Given the description of an element on the screen output the (x, y) to click on. 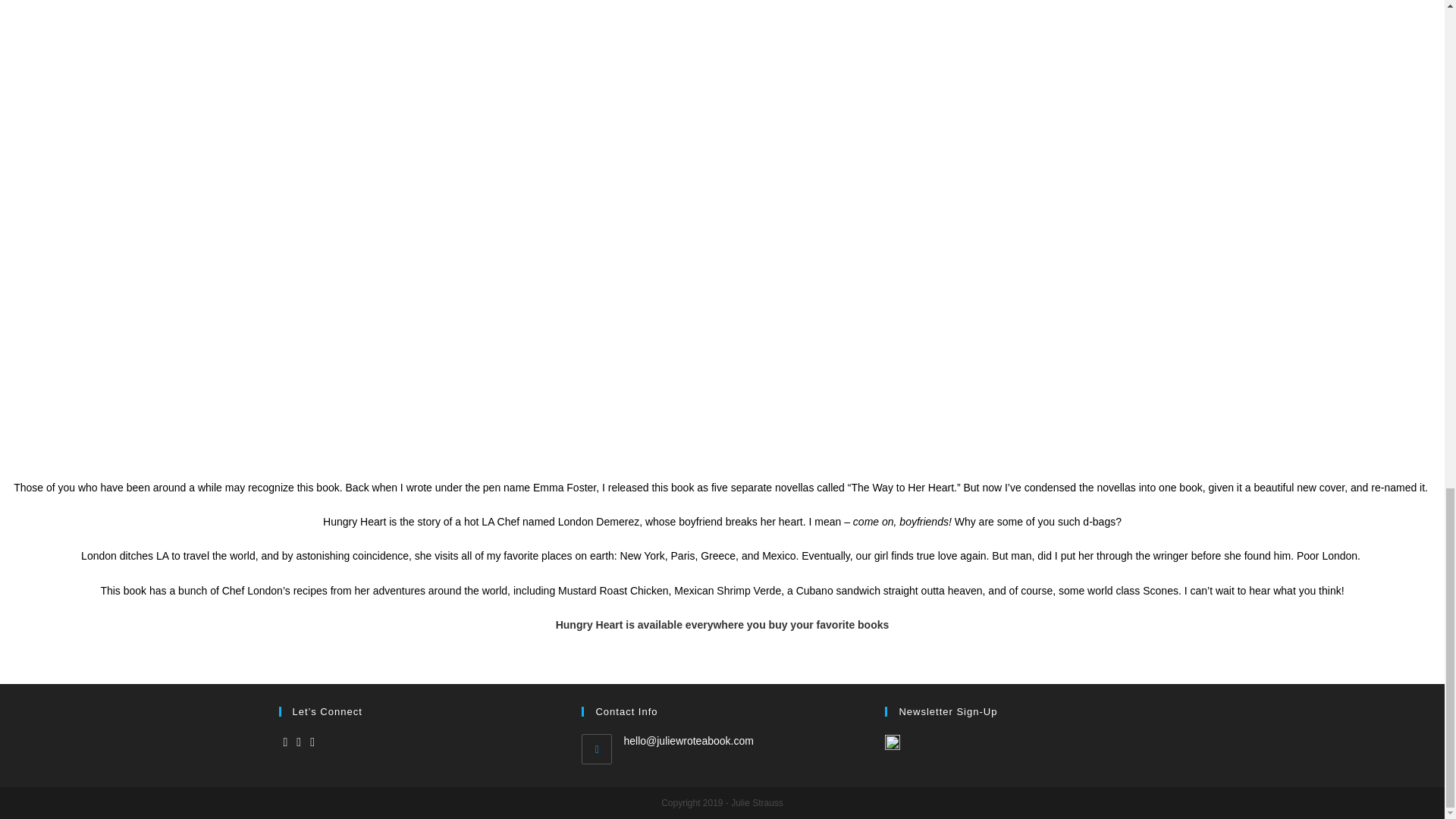
Newsletter Sign-Up (892, 742)
